Given the description of an element on the screen output the (x, y) to click on. 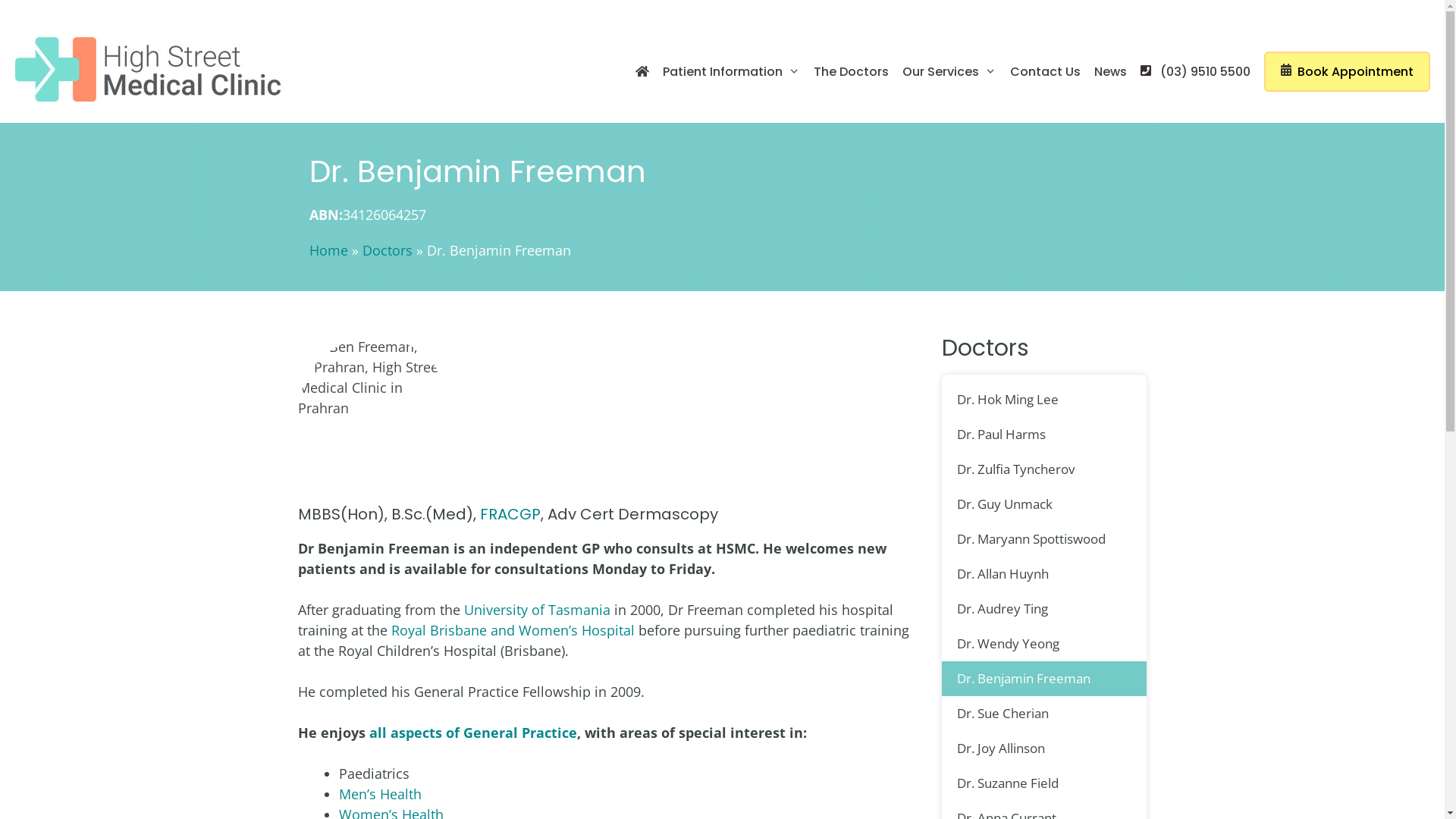
Home Element type: text (328, 250)
Dr. Maryann Spottiswood Element type: text (1043, 538)
University of Tasmania Element type: text (537, 609)
Patient Information Element type: text (730, 71)
Dr. Suzanne Field Element type: text (1043, 782)
Dr. Benjamin Freeman Element type: text (1043, 678)
Book Appointment Element type: text (1347, 71)
Dr. Wendy Yeong Element type: text (1043, 643)
Dr. Guy Unmack Element type: text (1043, 503)
Dr. Hok Ming Lee Element type: text (1043, 399)
News Element type: text (1110, 71)
Dr. Zulfia Tyncherov Element type: text (1043, 468)
Dr. Audrey Ting Element type: text (1043, 608)
Dr. Paul Harms Element type: text (1043, 434)
Contact Us Element type: text (1045, 71)
Dr. Allan Huynh Element type: text (1043, 573)
Dr. Sue Cherian Element type: text (1043, 713)
all aspects of General Practice Element type: text (472, 732)
Our Services Element type: text (949, 71)
FRACGP Element type: text (509, 513)
(03) 9510 5500 Element type: text (1195, 71)
Dr. Joy Allinson Element type: text (1043, 748)
The Doctors Element type: text (850, 71)
Doctors Element type: text (387, 250)
